Given the description of an element on the screen output the (x, y) to click on. 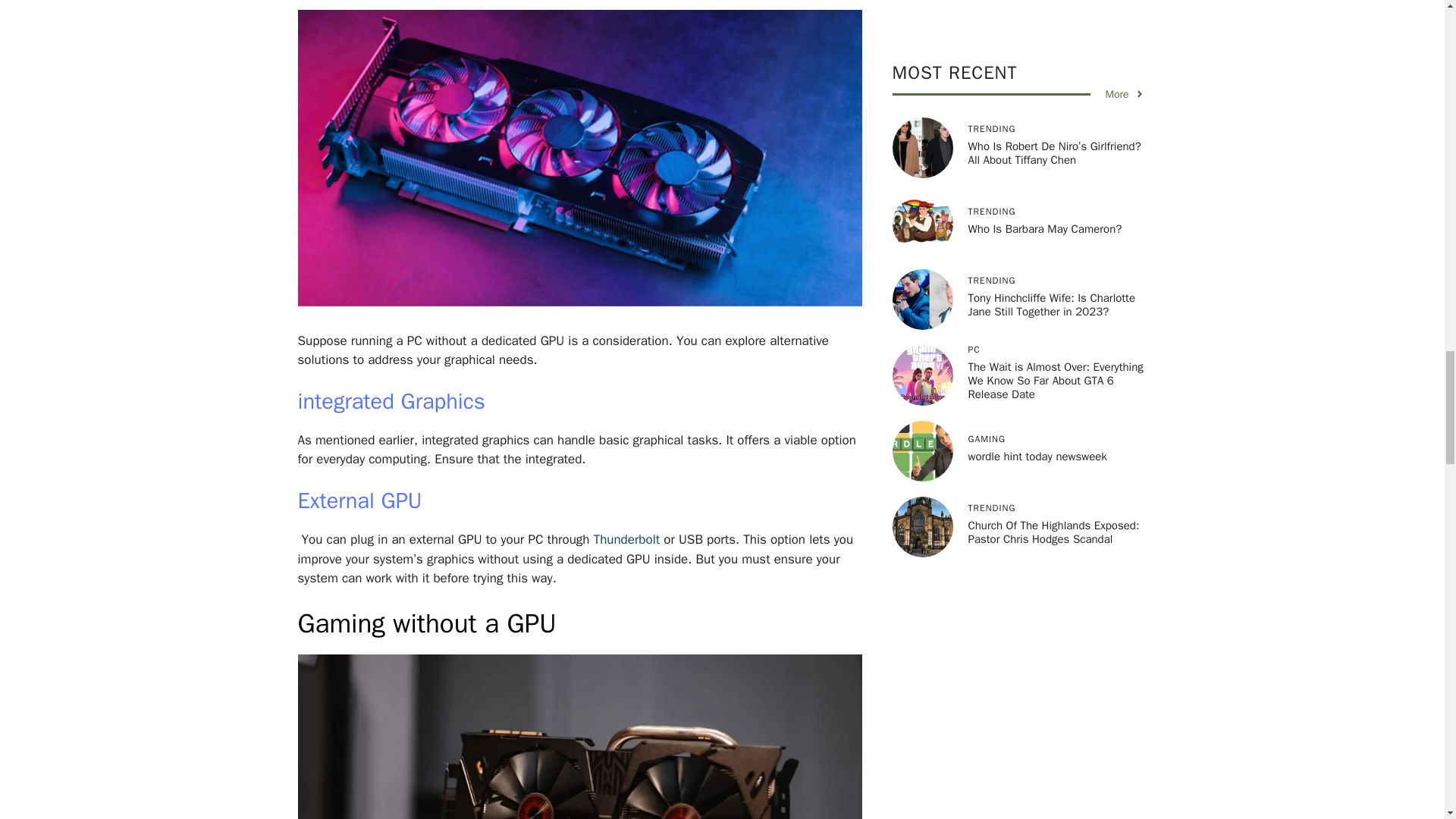
Thunderbolt (627, 539)
